Given the description of an element on the screen output the (x, y) to click on. 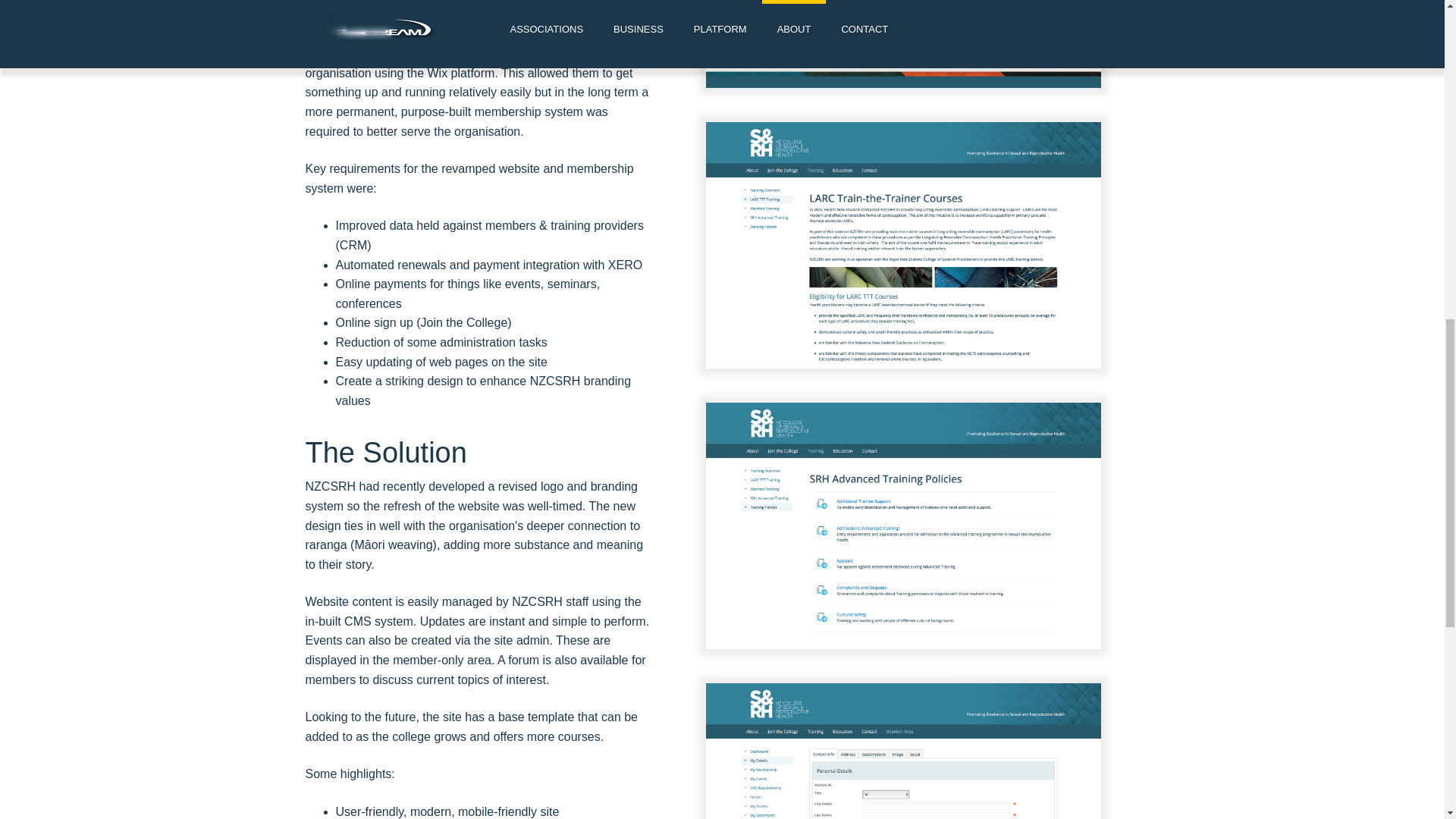
NZCSRH Policies (903, 525)
Member Profile (903, 751)
NZCSRH Training (903, 43)
NZCSRH LARC (903, 245)
